Given the description of an element on the screen output the (x, y) to click on. 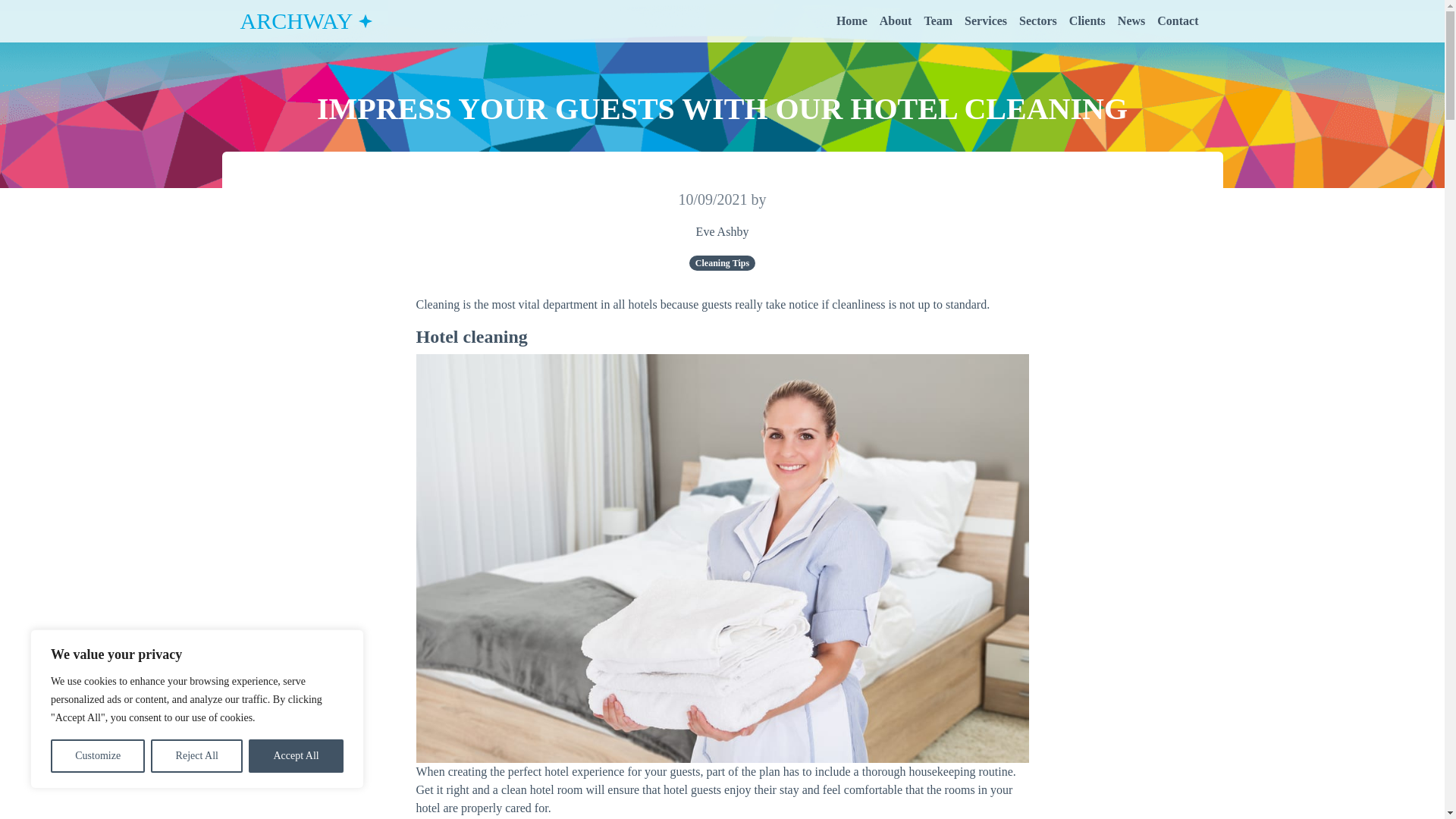
Cleaning Tips (721, 263)
Home (851, 20)
News (1131, 20)
Customize (97, 756)
Clients (1087, 20)
Reject All (197, 756)
Team (937, 20)
Contact (1177, 20)
About (895, 20)
ARCHWAY (306, 20)
Sectors (1037, 20)
Accept All (295, 756)
Services (985, 20)
